Given the description of an element on the screen output the (x, y) to click on. 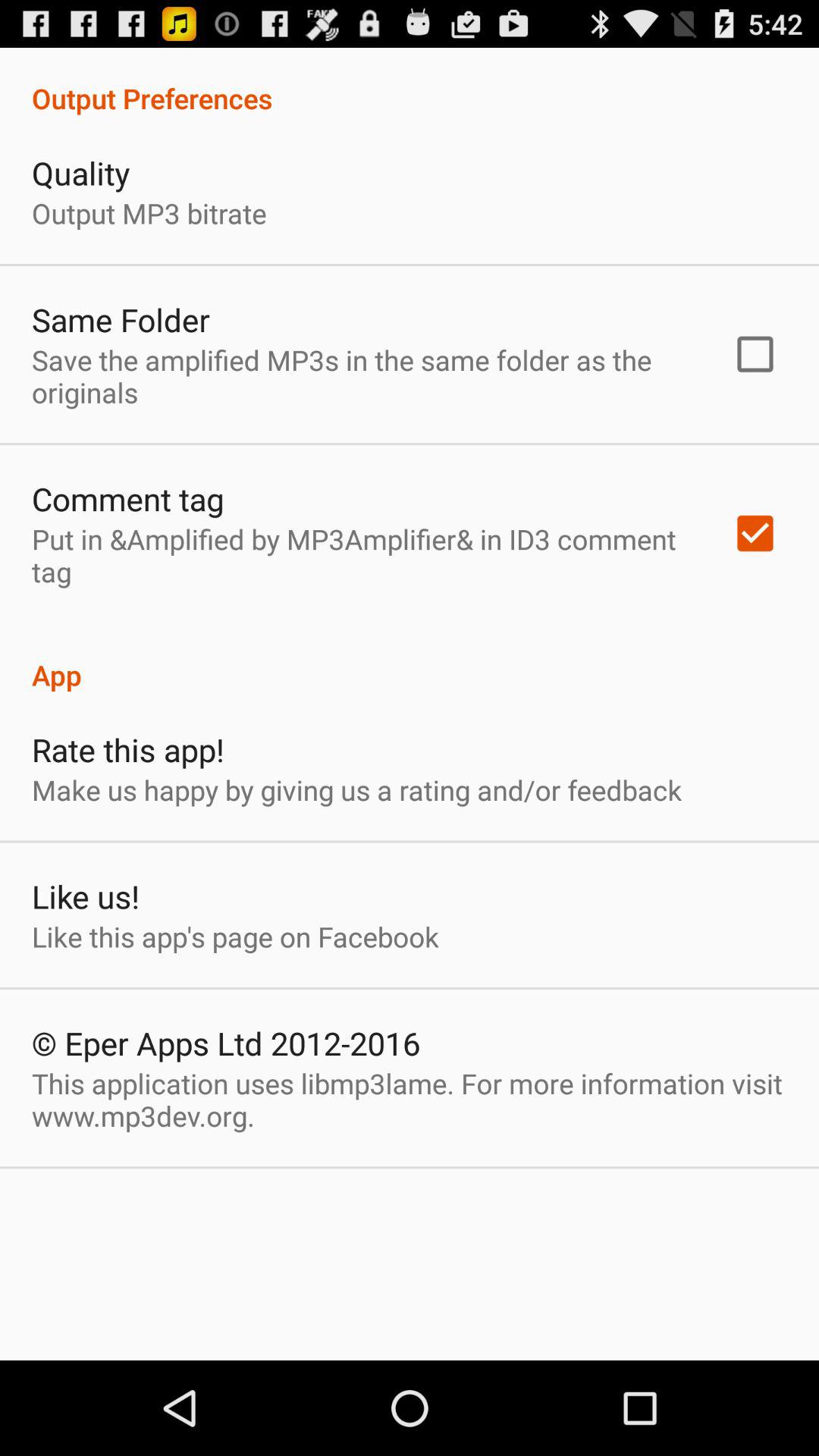
flip to quality icon (80, 172)
